Given the description of an element on the screen output the (x, y) to click on. 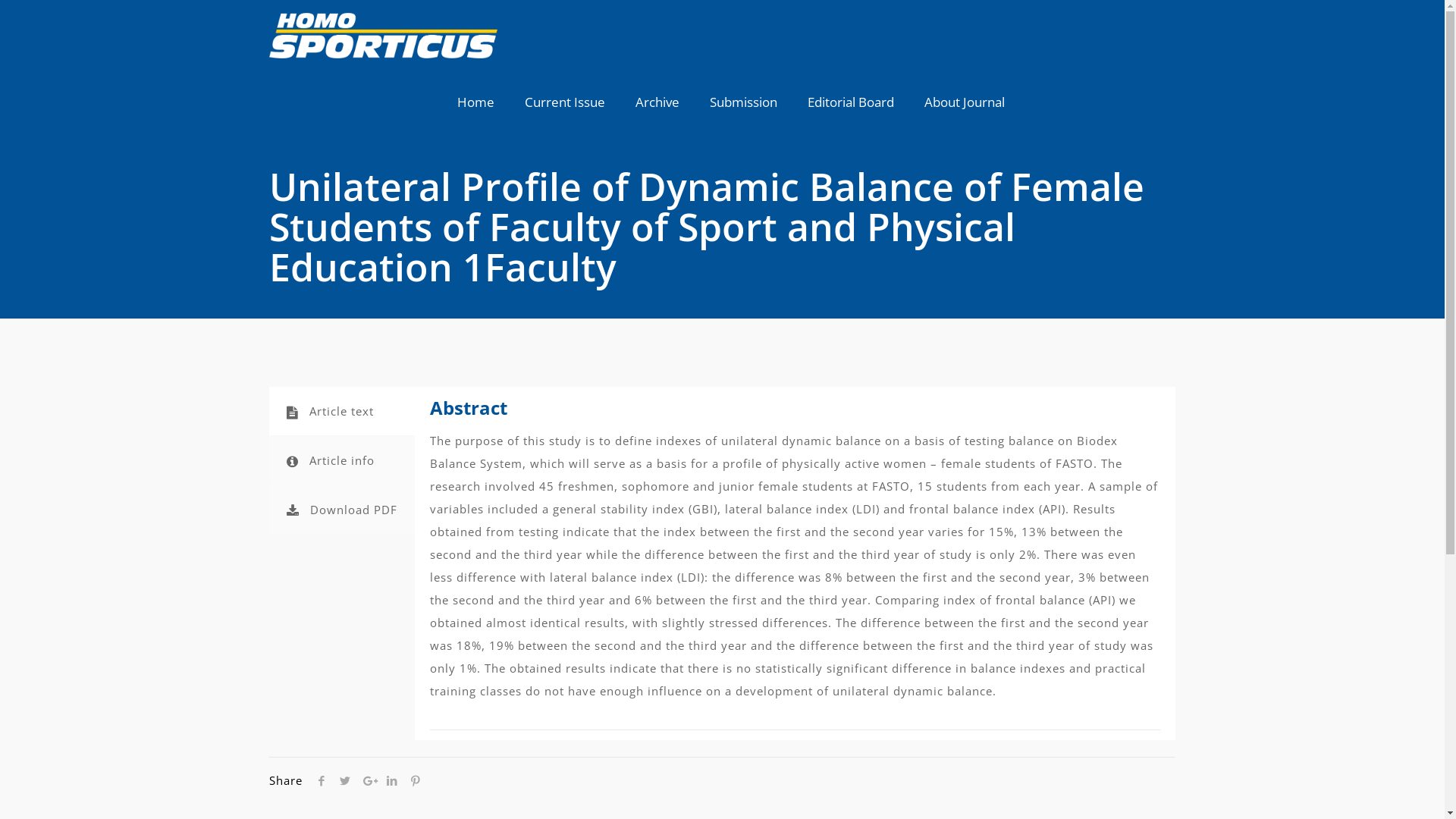
Download PDF Element type: text (341, 509)
Submission Element type: text (743, 102)
About Journal Element type: text (964, 102)
Archive Element type: text (657, 102)
Editorial Board Element type: text (729, 659)
Current Issue Element type: text (564, 102)
Home Element type: text (729, 517)
Article info Element type: text (341, 460)
Editorial Board Element type: text (850, 102)
oMedia.ba Element type: text (1018, 784)
Homosporticus Element type: hover (383, 34)
Home Element type: text (475, 102)
Author Guidelines Element type: text (729, 588)
Article text Element type: text (341, 410)
About Journal Element type: text (729, 695)
Submission Element type: text (729, 553)
izradawebstranica.ba Element type: text (836, 784)
For Reviewers Element type: text (729, 624)
